Given the description of an element on the screen output the (x, y) to click on. 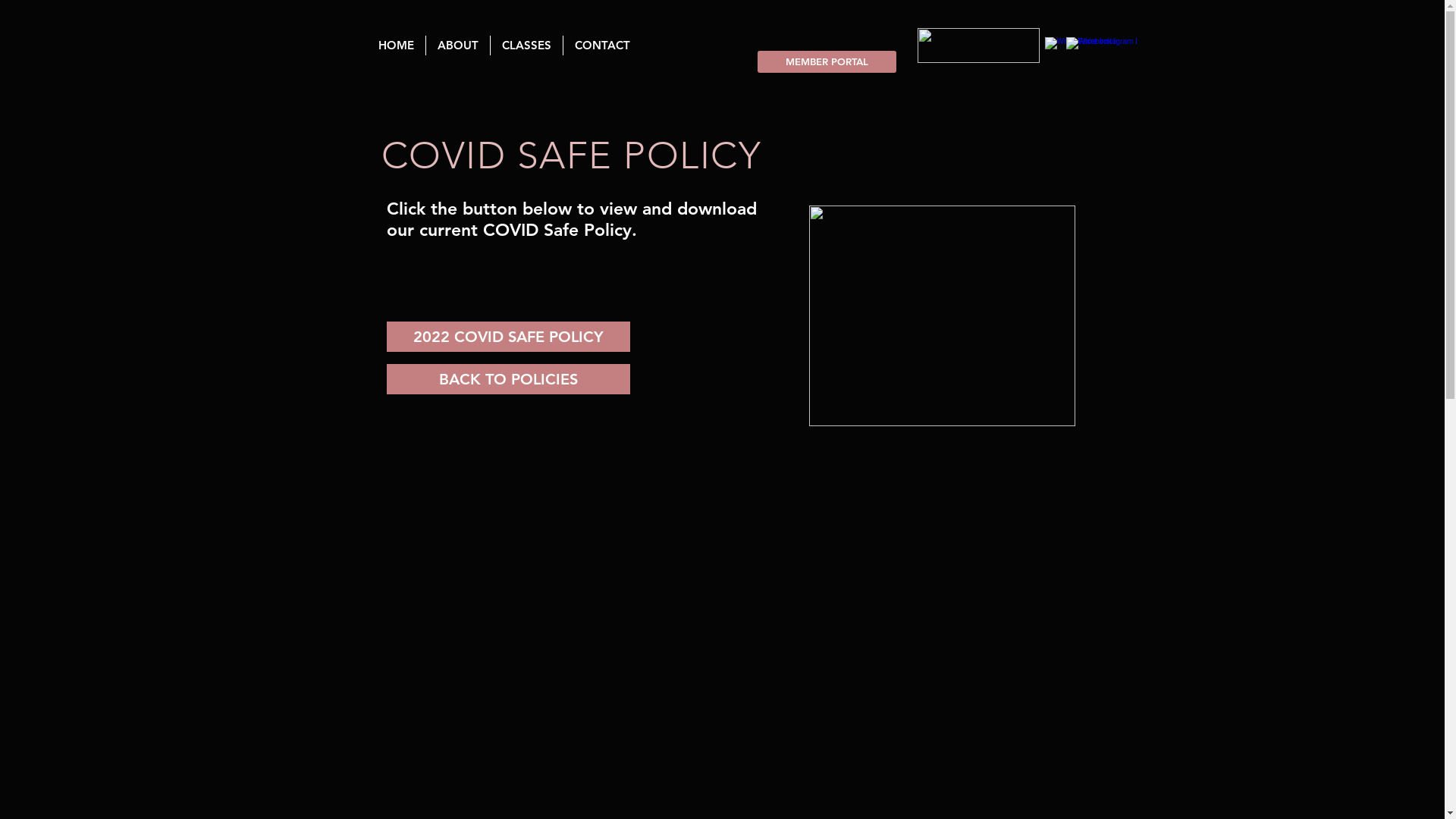
CLASSES Element type: text (525, 45)
ABOUT Element type: text (457, 45)
2022 COVID SAFE POLICY Element type: text (508, 336)
BACK TO POLICIES Element type: text (508, 379)
HOME Element type: text (396, 45)
MEMBER PORTAL Element type: text (825, 61)
CONTACT Element type: text (601, 45)
